Given the description of an element on the screen output the (x, y) to click on. 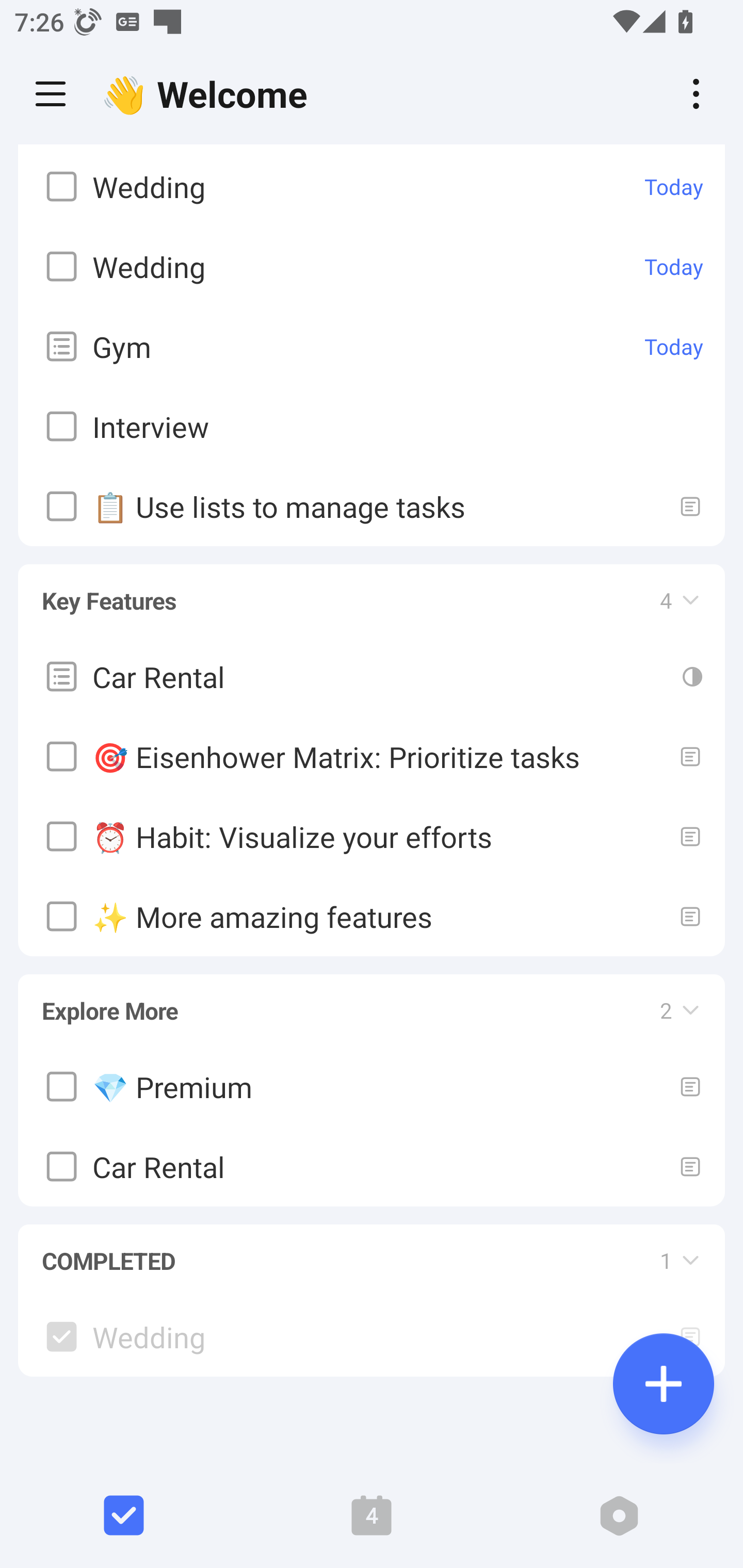
👋 Welcome (209, 93)
Wedding Today (371, 185)
Today (673, 186)
Wedding Today (371, 265)
Today (673, 266)
Gym Today (371, 345)
Today (673, 346)
Interview (371, 425)
📋 Use lists to manage tasks (371, 505)
Key Features 4 (371, 590)
Car Rental (371, 676)
🎯 Eisenhower Matrix: Prioritize tasks (371, 756)
⏰ Habit: Visualize your efforts (371, 836)
✨ More amazing features (371, 916)
Explore More 2 (371, 1000)
💎 Premium (371, 1085)
Car Rental (371, 1165)
COMPLETED 1 (371, 1250)
Wedding (371, 1336)
